Given the description of an element on the screen output the (x, y) to click on. 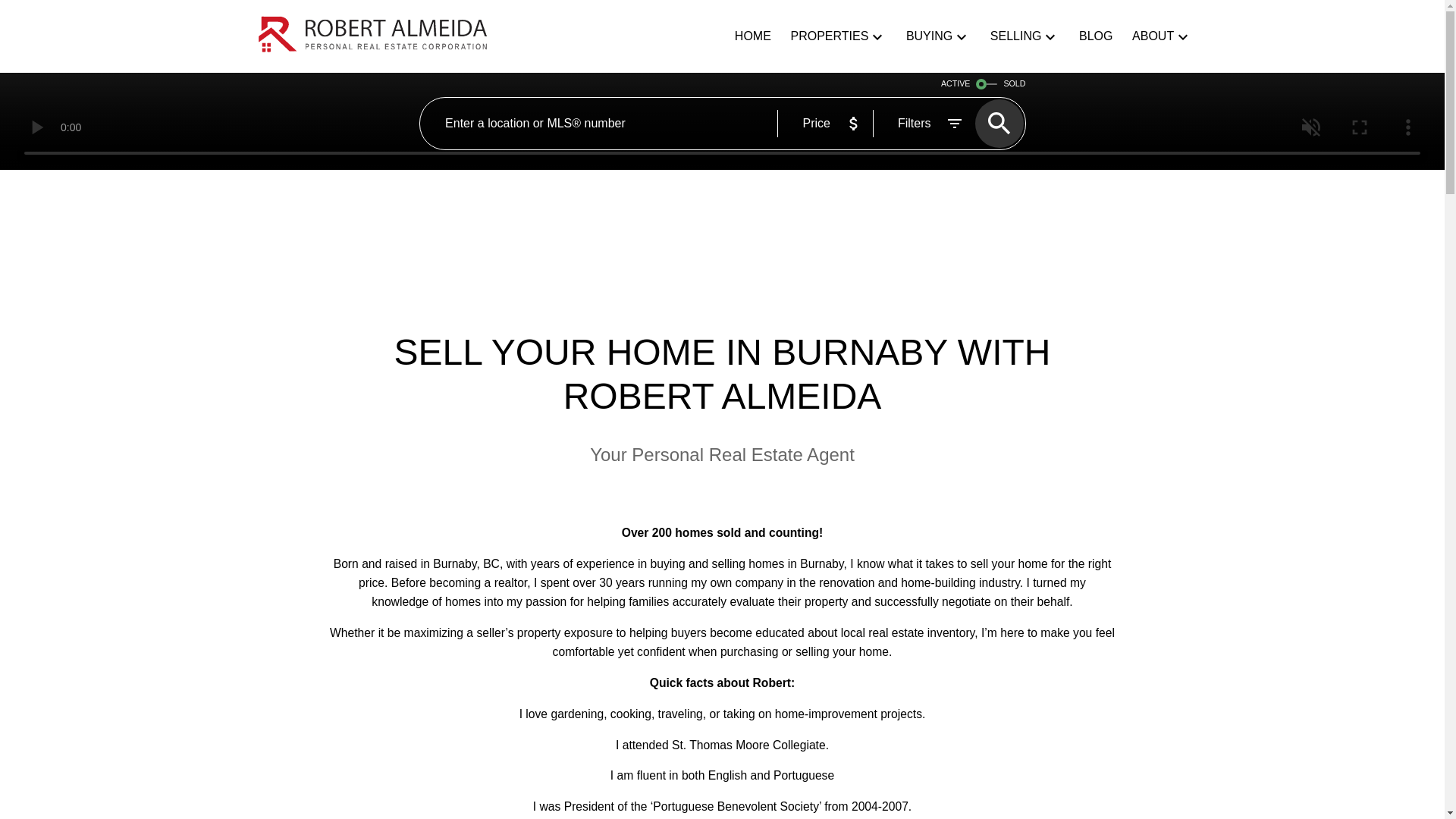
BLOG (1095, 35)
SELLING (1016, 35)
ABOUT (1152, 35)
PROPERTIES (828, 35)
HOME (753, 35)
BUYING (928, 35)
